Given the description of an element on the screen output the (x, y) to click on. 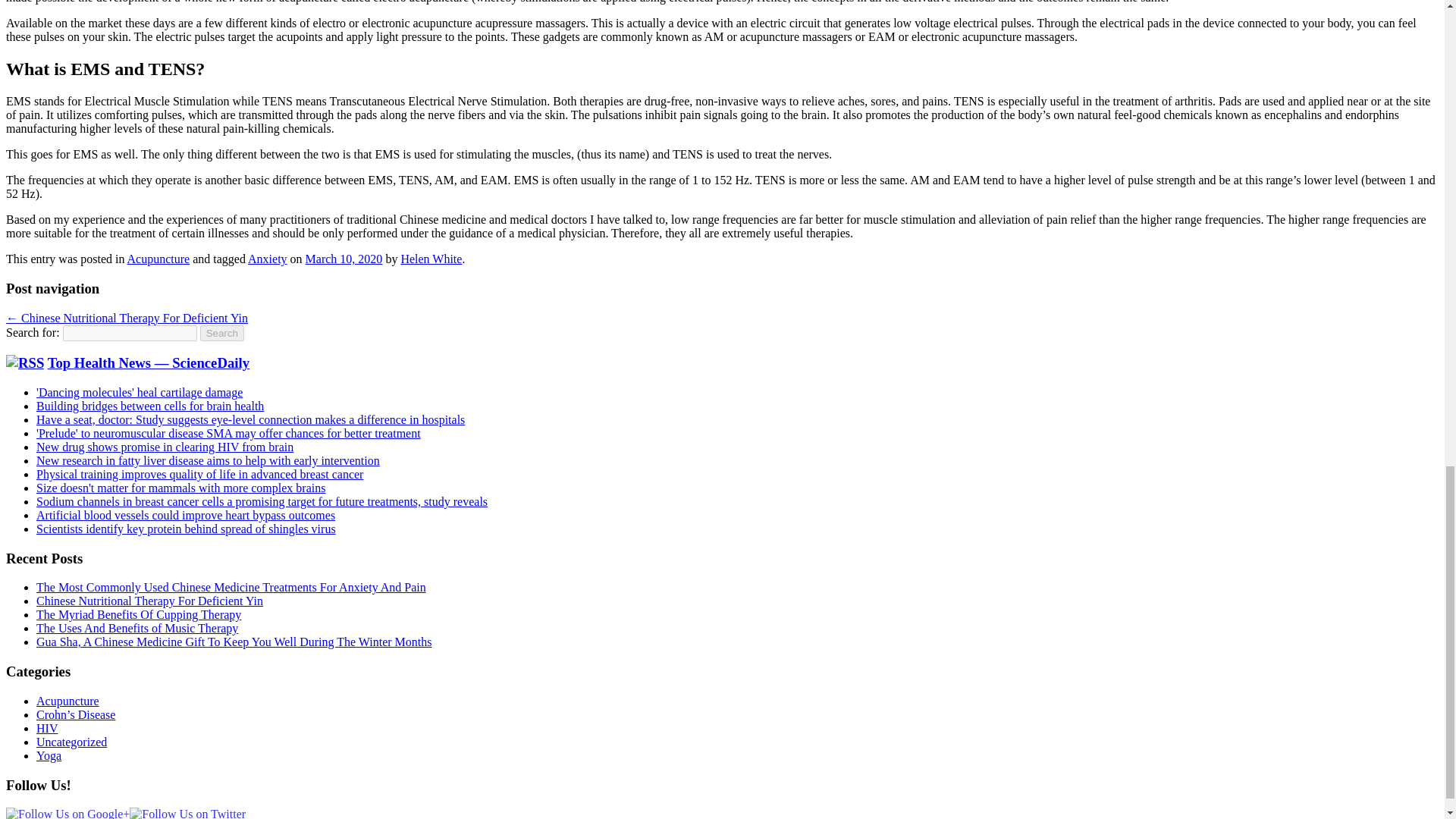
HIV (47, 727)
Acupuncture (67, 700)
'Dancing molecules' heal cartilage damage (139, 391)
8:44 PM (343, 258)
Acupuncture (159, 258)
Artificial blood vessels could improve heart bypass outcomes (185, 514)
View all posts by Helen White (430, 258)
Size doesn't matter for mammals with more complex brains (180, 487)
New drug shows promise in clearing HIV from brain (165, 446)
The Myriad Benefits Of Cupping Therapy (138, 614)
Uncategorized (71, 741)
